Given the description of an element on the screen output the (x, y) to click on. 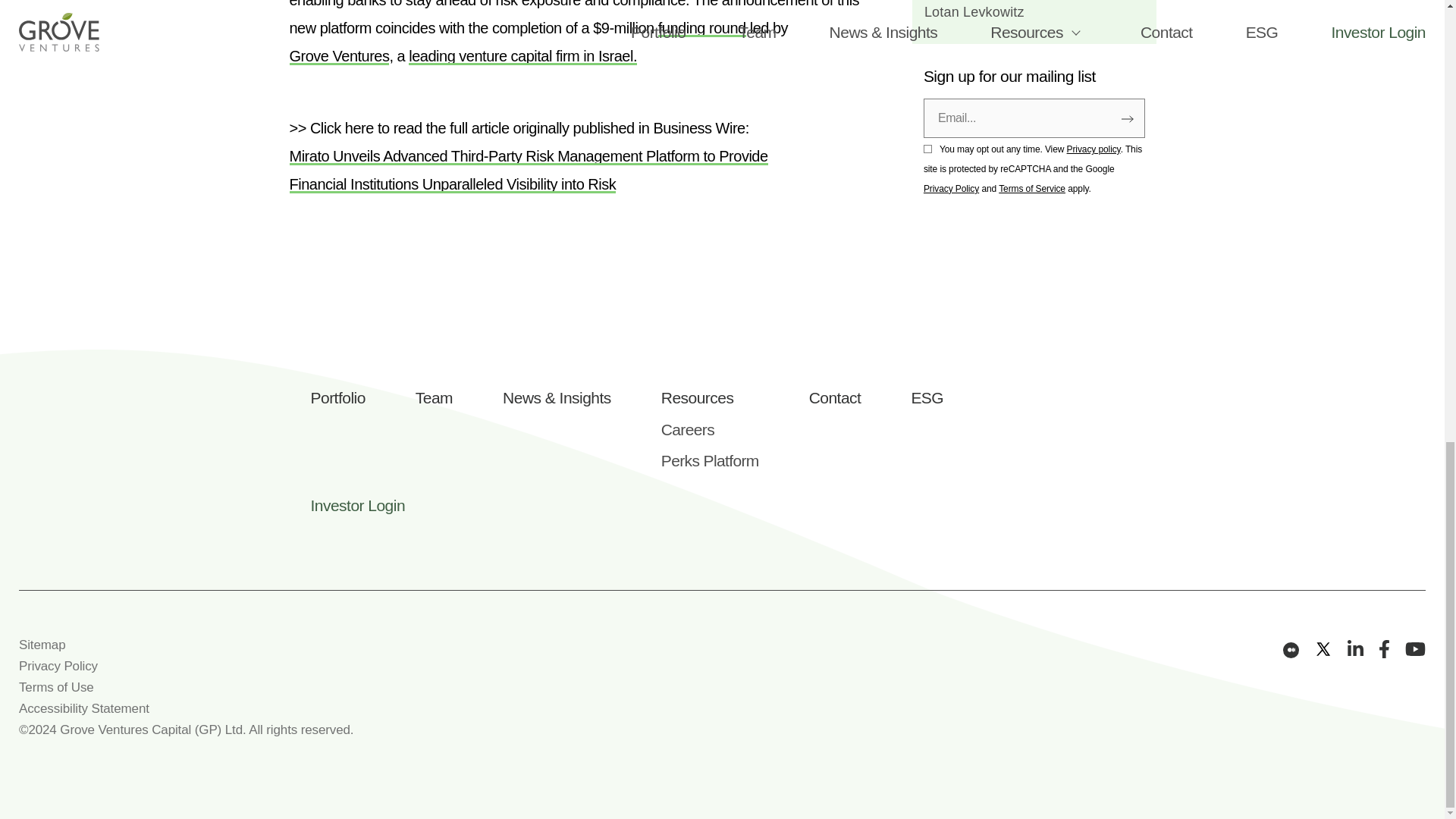
Team (433, 397)
Contact (835, 397)
funding round (701, 27)
Investor Login (358, 505)
Portfolio (338, 397)
Resources (709, 397)
leading venture capital firm in Israel. (523, 55)
Careers (709, 429)
Financial Institutions Unparalleled Visibility into Risk (452, 184)
Perks Platform (709, 460)
